Given the description of an element on the screen output the (x, y) to click on. 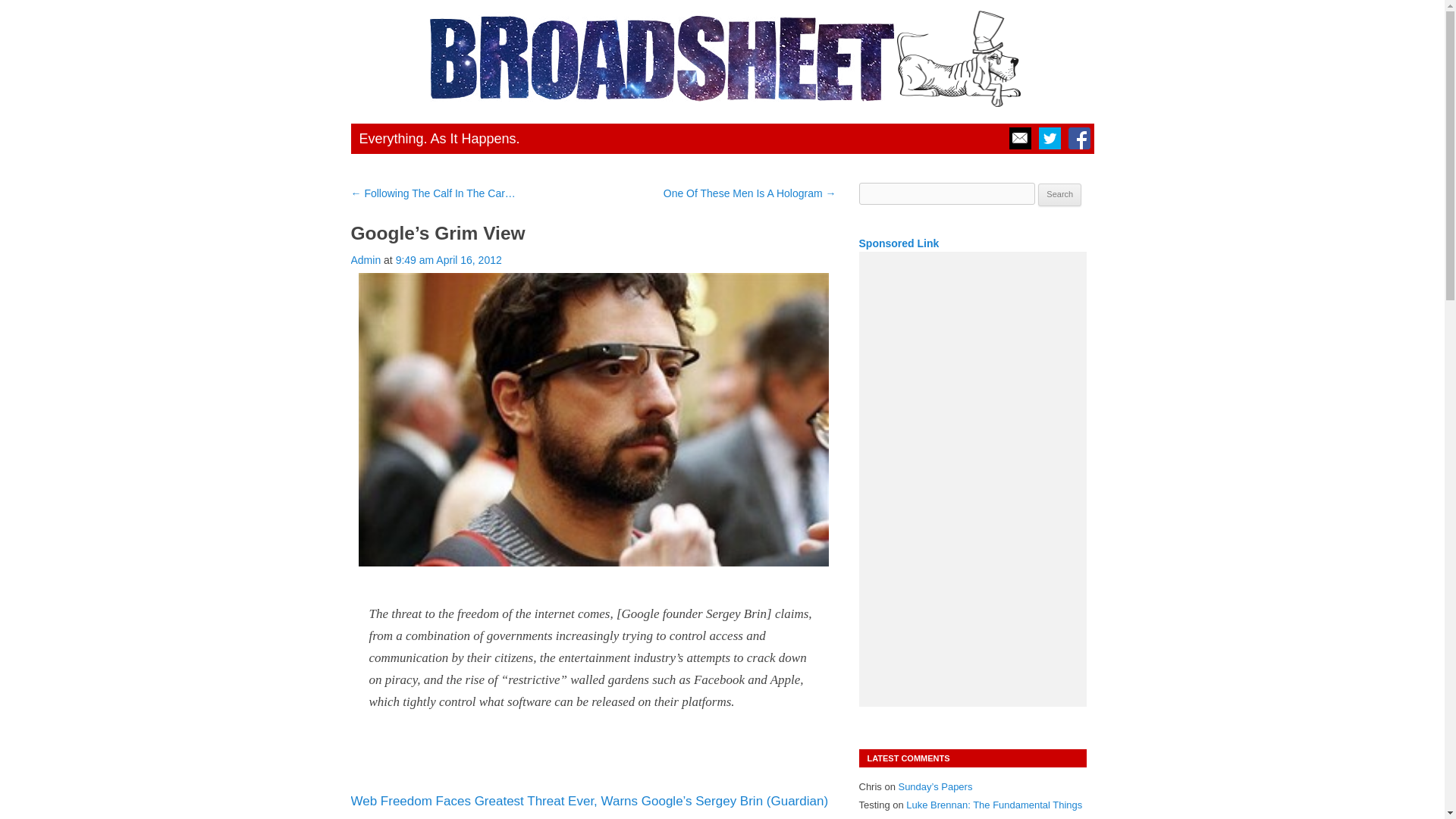
9:49 am April 16, 2012 (449, 259)
Admin (365, 259)
View all posts by Admin (365, 259)
9:49 am (449, 259)
